Given the description of an element on the screen output the (x, y) to click on. 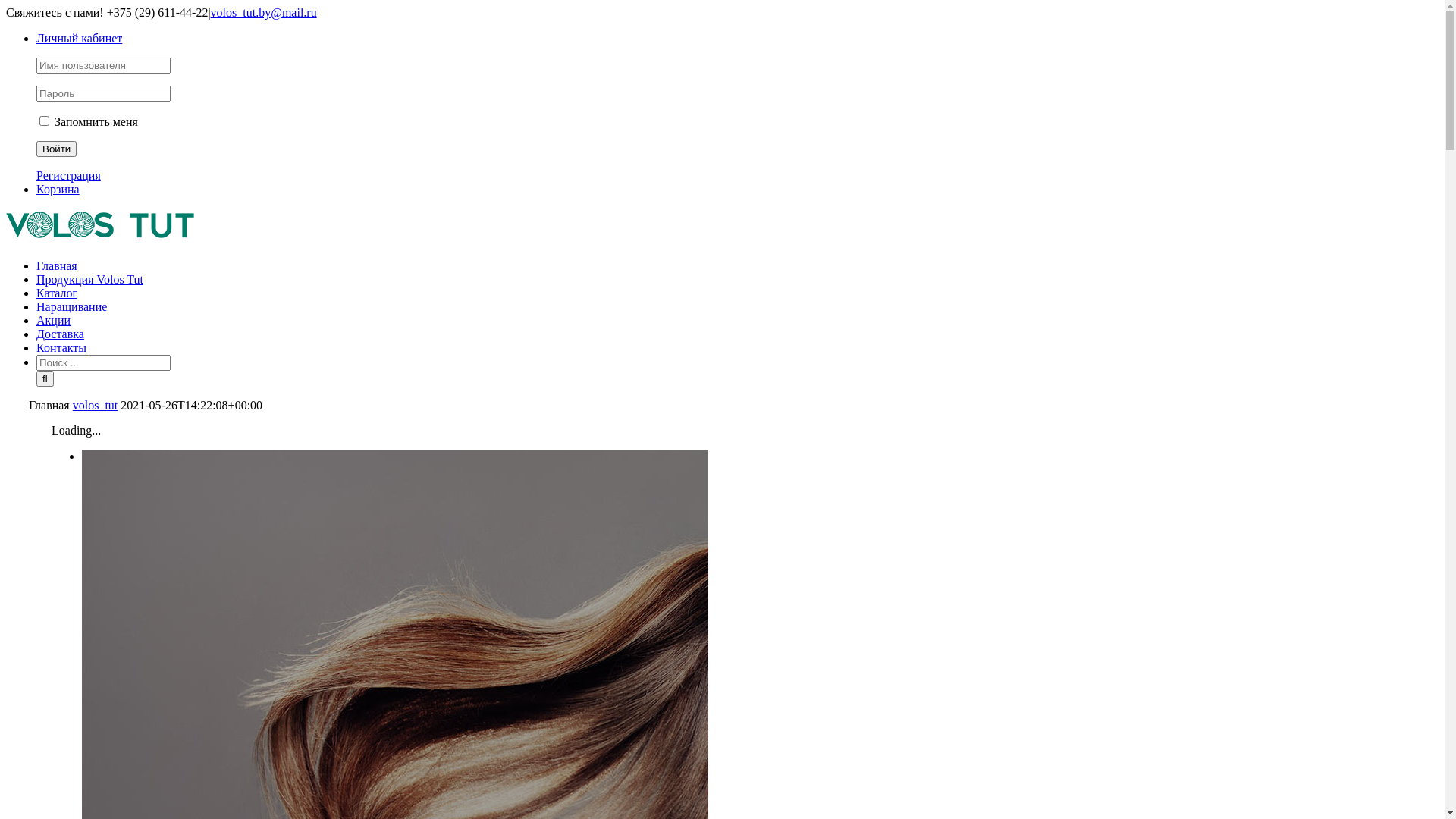
volos_tut Element type: text (95, 404)
volos_tut.by@mail.ru Element type: text (263, 12)
